Given the description of an element on the screen output the (x, y) to click on. 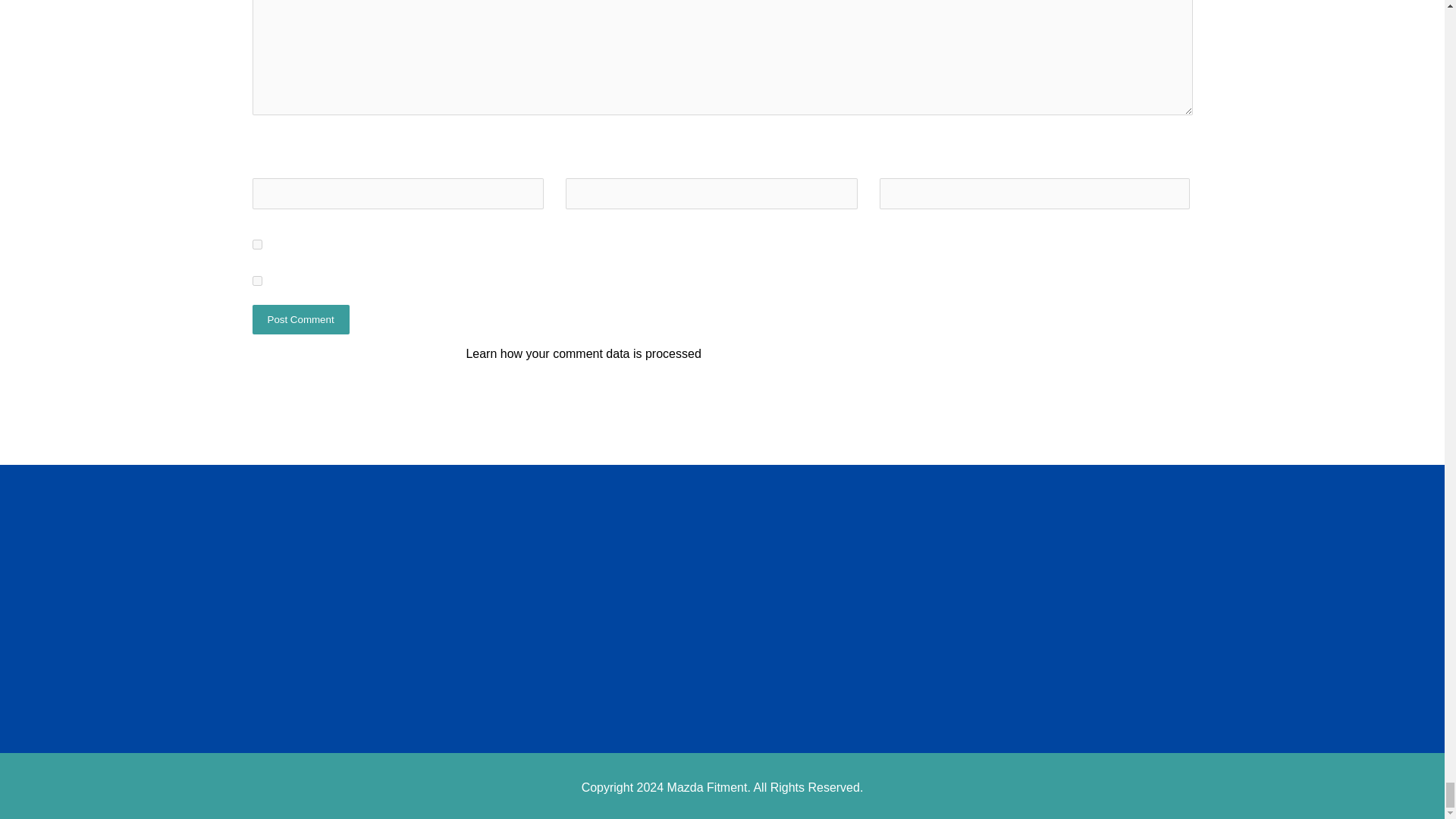
subscribe (256, 280)
subscribe (256, 244)
Post Comment (300, 318)
